Given the description of an element on the screen output the (x, y) to click on. 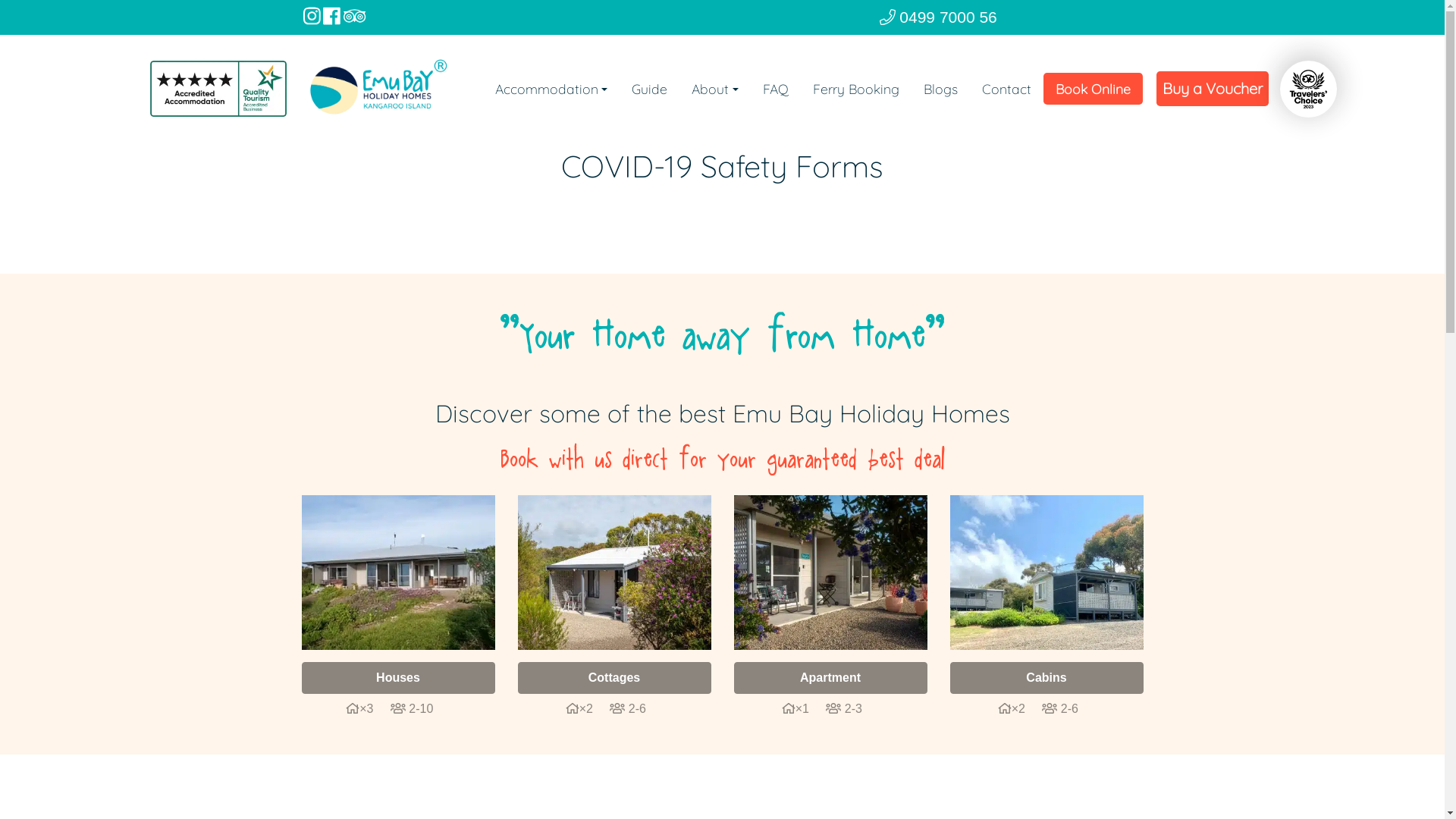
Buy a Voucher Element type: text (1211, 88)
0499 7000 56 Element type: text (938, 17)
Emu Bay Holiday Homes Element type: text (377, 89)
Accommodation Element type: text (551, 88)
About Element type: text (714, 88)
Contact Element type: text (1005, 88)
Guide Element type: text (649, 88)
Blogs Element type: text (940, 88)
Ferry Booking Element type: text (855, 88)
FAQ Element type: text (775, 88)
Cottages Element type: text (613, 677)
Apartment Element type: text (830, 677)
Houses Element type: text (398, 677)
Book Online Element type: text (1092, 88)
Cabins Element type: text (1045, 677)
